Given the description of an element on the screen output the (x, y) to click on. 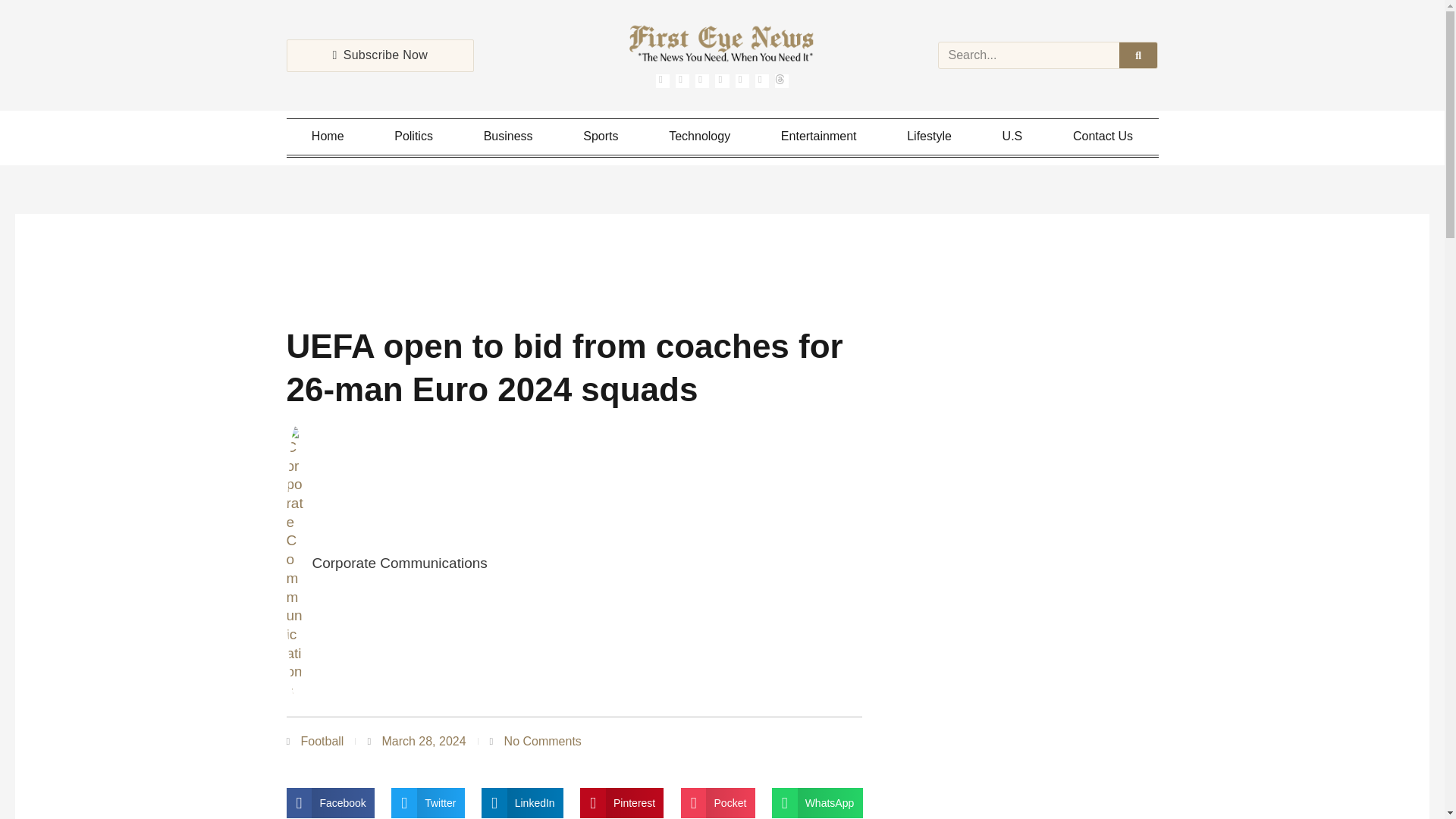
Politics (413, 136)
Lifestyle (929, 136)
Home (327, 136)
Football (321, 740)
Entertainment (818, 136)
Contact Us (1103, 136)
Sports (600, 136)
Business (507, 136)
Technology (699, 136)
March 28, 2024 (415, 741)
